Given the description of an element on the screen output the (x, y) to click on. 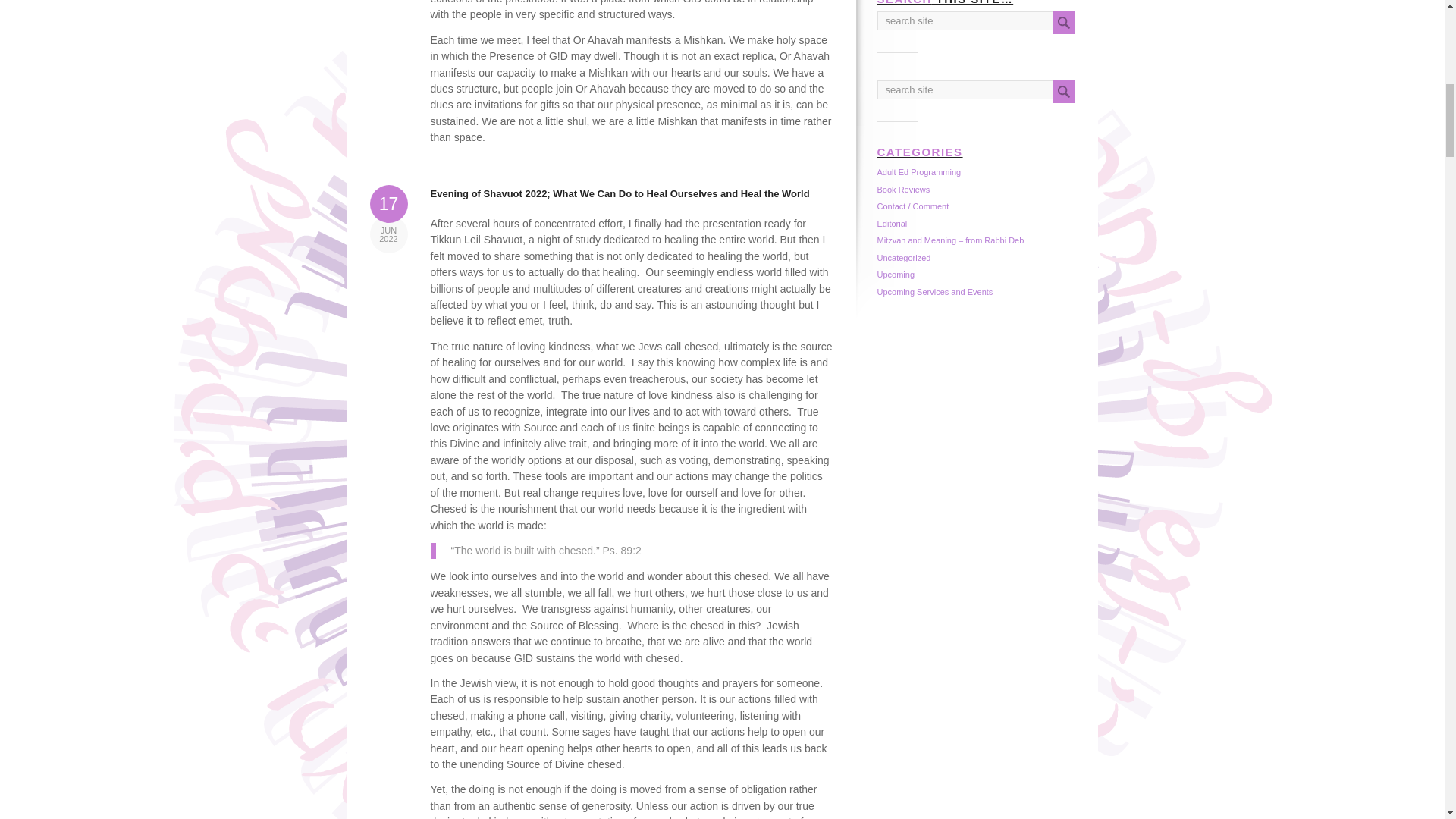
Page 1 (631, 73)
View all posts filed under Uncategorized (903, 257)
View all posts filed under Book Reviews (903, 189)
search site (986, 20)
search site (986, 89)
Page 1 (631, 73)
View all posts filed under Editorial (891, 223)
View all posts filed under Upcoming Services and Events (934, 290)
View all posts filed under Upcoming (895, 274)
View all posts filed under Adult Ed Programming (918, 171)
